Given the description of an element on the screen output the (x, y) to click on. 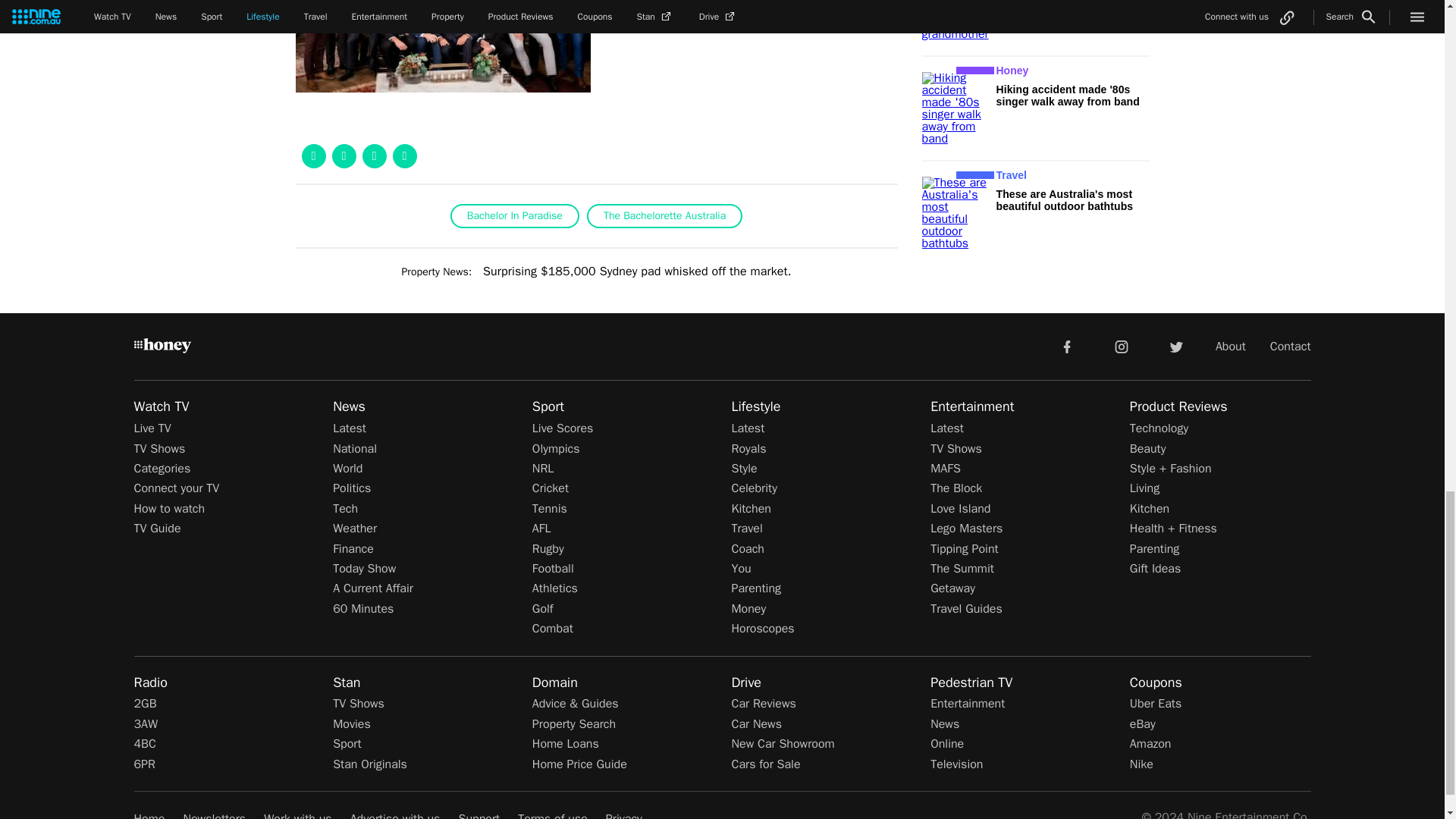
instagram (1121, 345)
facebook (1066, 345)
twitter (1175, 345)
